Given the description of an element on the screen output the (x, y) to click on. 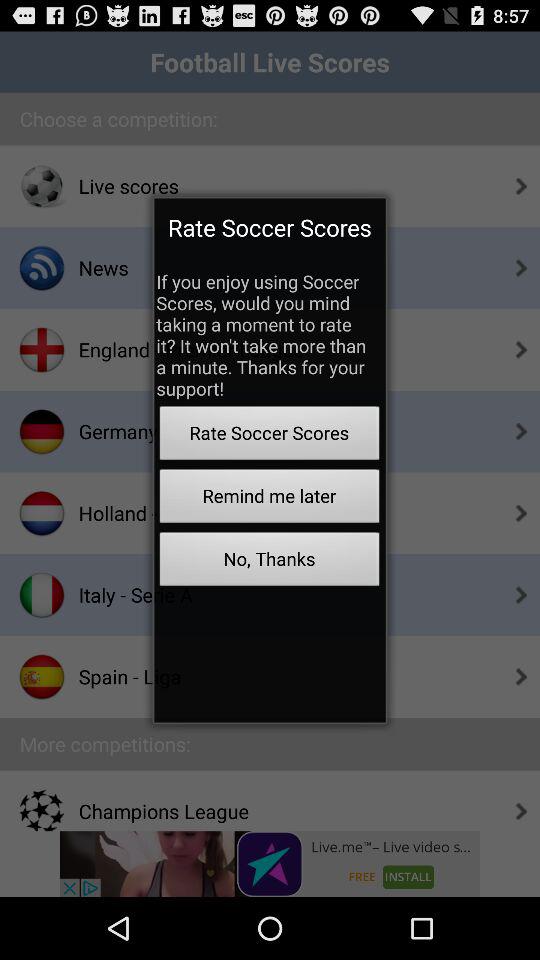
press the remind me later item (269, 498)
